Given the description of an element on the screen output the (x, y) to click on. 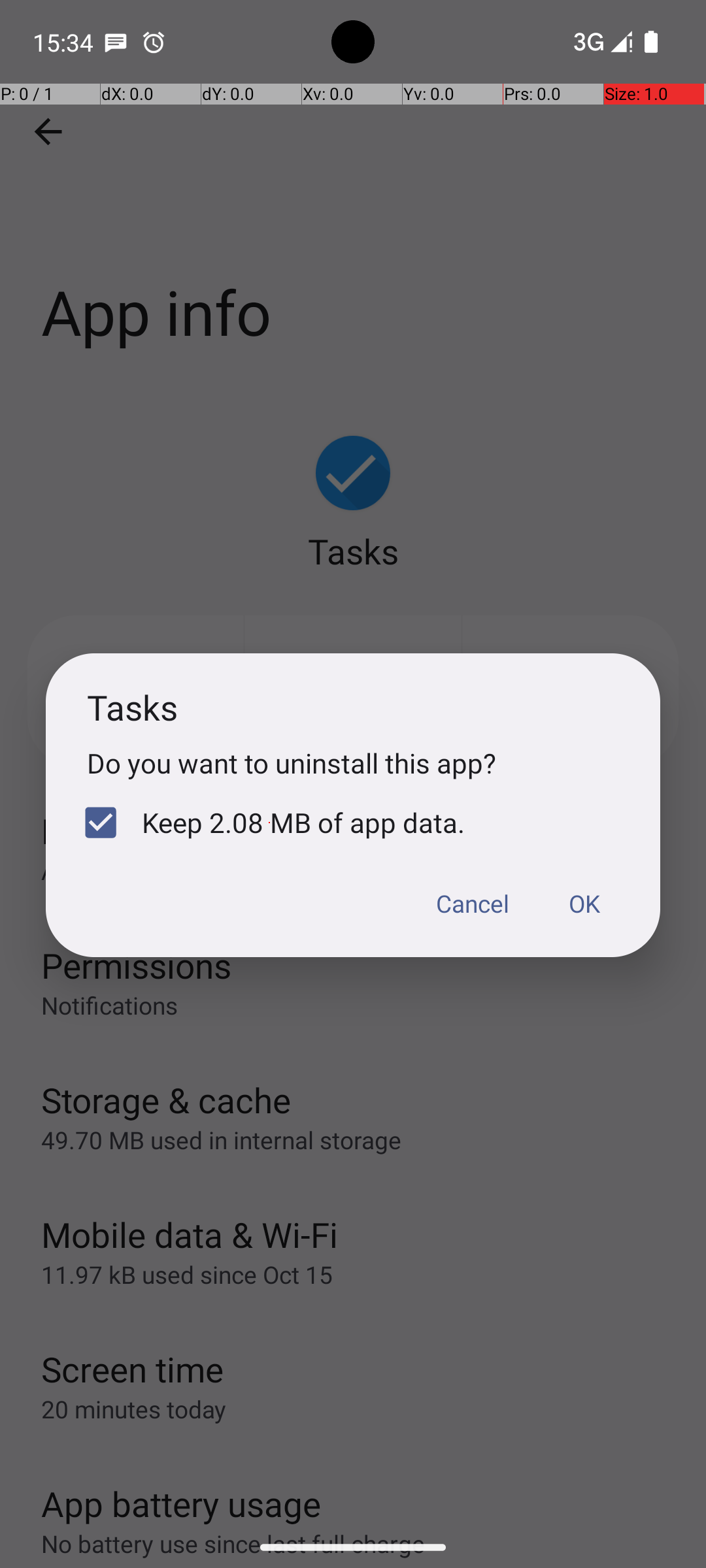
Do you want to uninstall this app? Element type: android.widget.TextView (352, 762)
Keep 2.08 MB of app data. Element type: android.widget.CheckBox (269, 822)
